Given the description of an element on the screen output the (x, y) to click on. 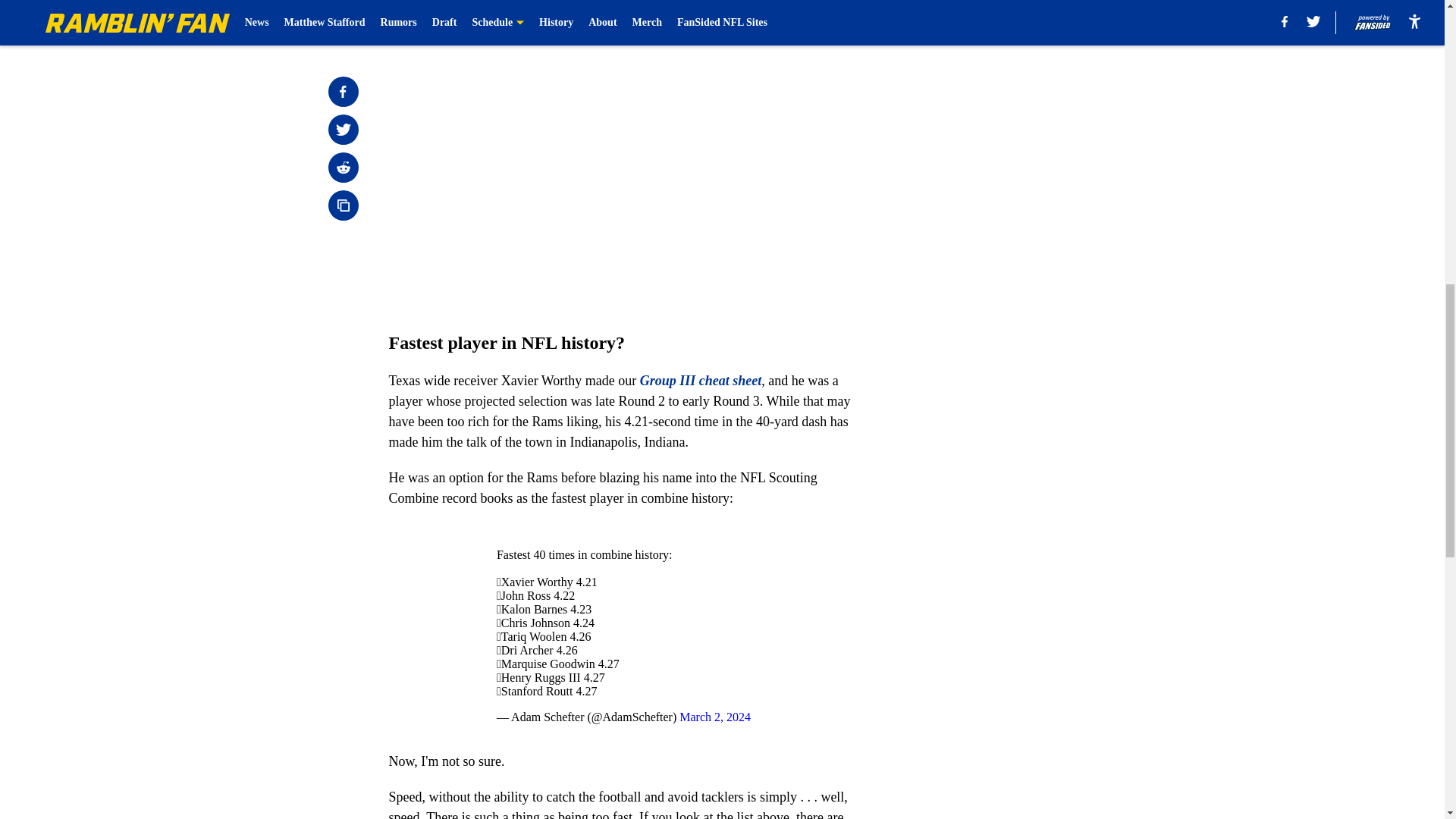
Next (813, 20)
Prev (433, 20)
March 2, 2024 (715, 716)
Group III cheat sheet (700, 380)
